Given the description of an element on the screen output the (x, y) to click on. 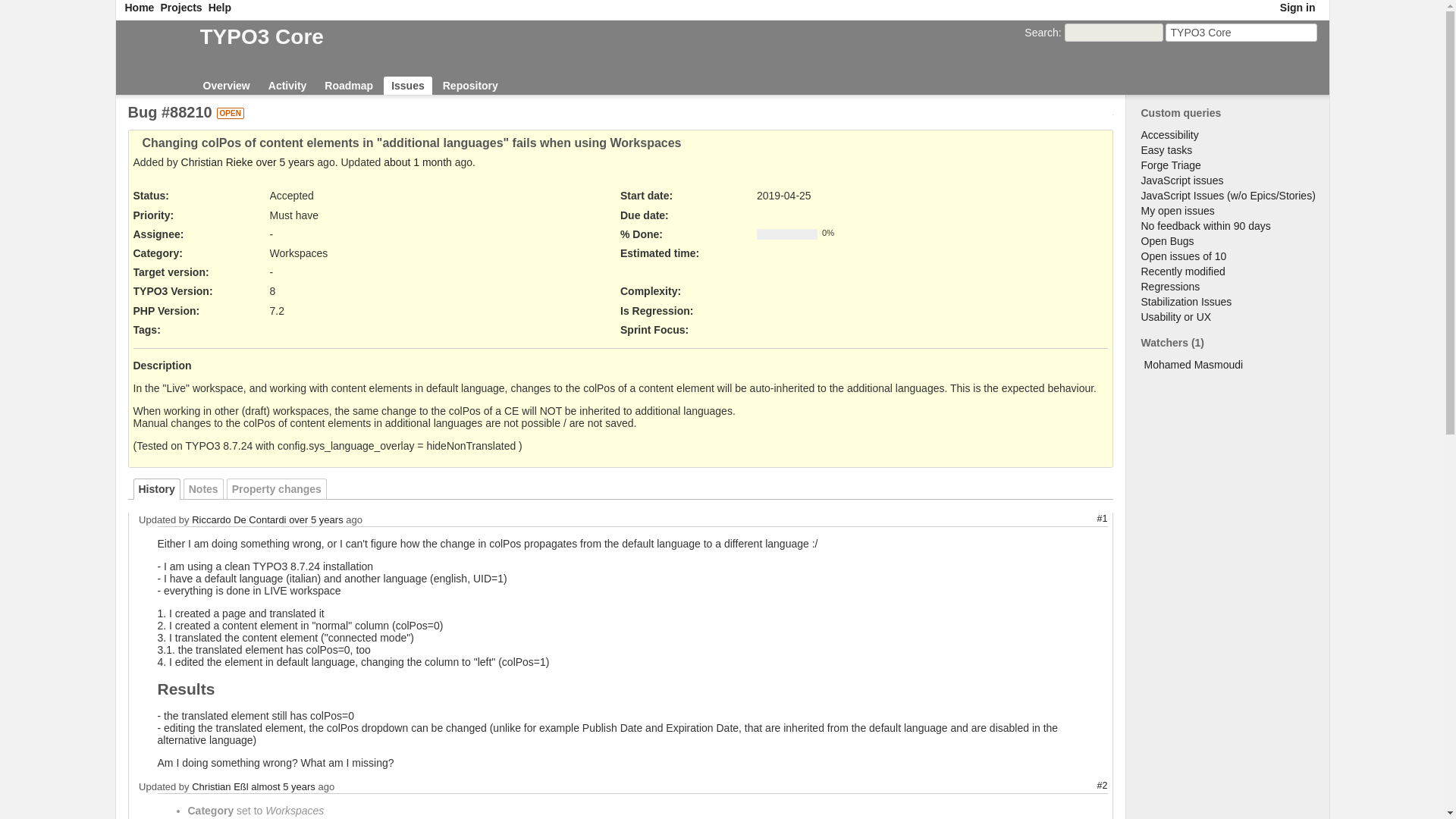
Stabilization Issues (1185, 301)
Usability or UX (1175, 316)
History (156, 488)
Recently modified (1182, 271)
Home (138, 7)
Christian Rieke (216, 162)
Help (219, 7)
JavaScript issues (1181, 180)
2019-04-25 15:53 (285, 162)
Overview (226, 85)
